Given the description of an element on the screen output the (x, y) to click on. 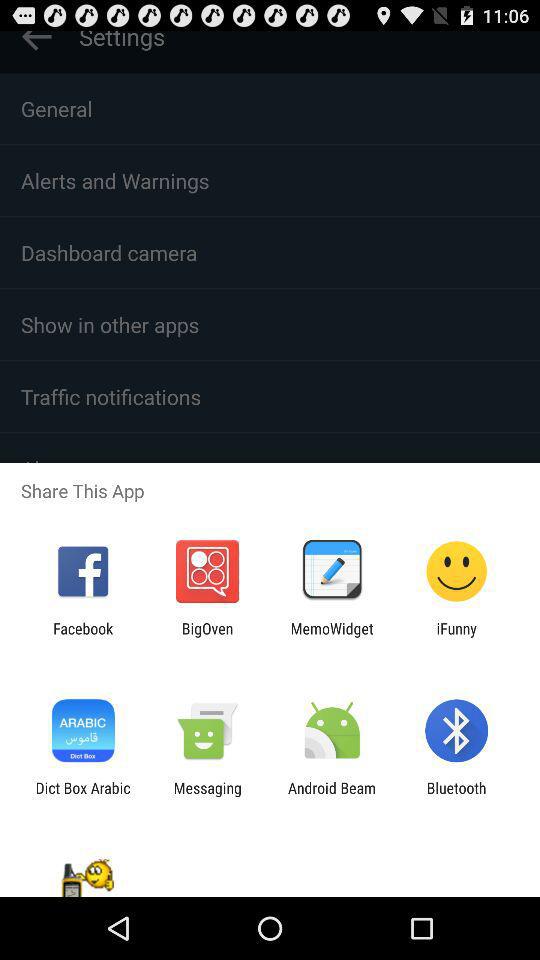
select the icon next to android beam item (207, 796)
